Given the description of an element on the screen output the (x, y) to click on. 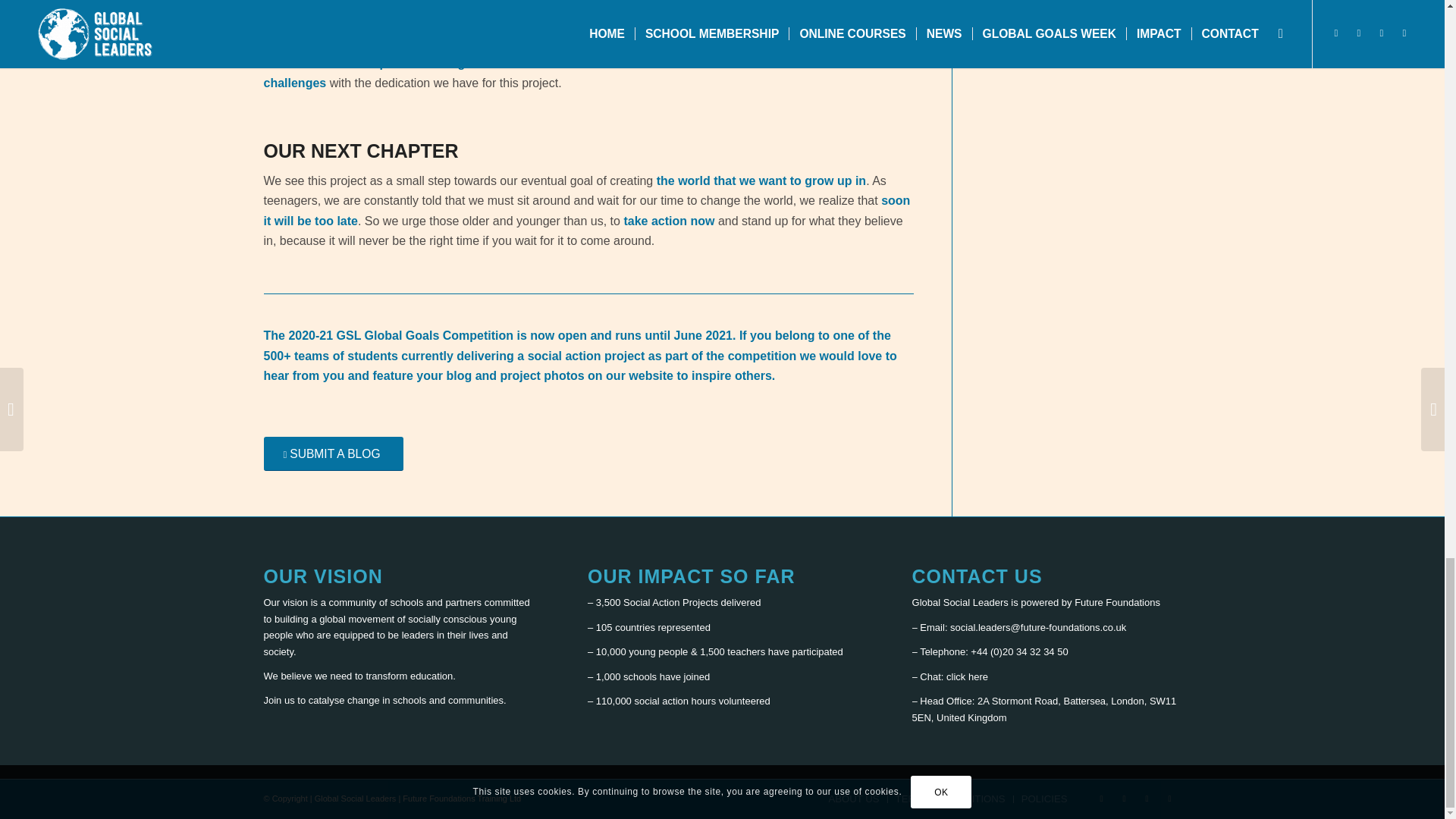
Instagram (1146, 798)
Twitter (1101, 798)
Facebook (1124, 798)
SUBMIT A BLOG (333, 453)
LinkedIn (1169, 798)
Join us (279, 699)
